Given the description of an element on the screen output the (x, y) to click on. 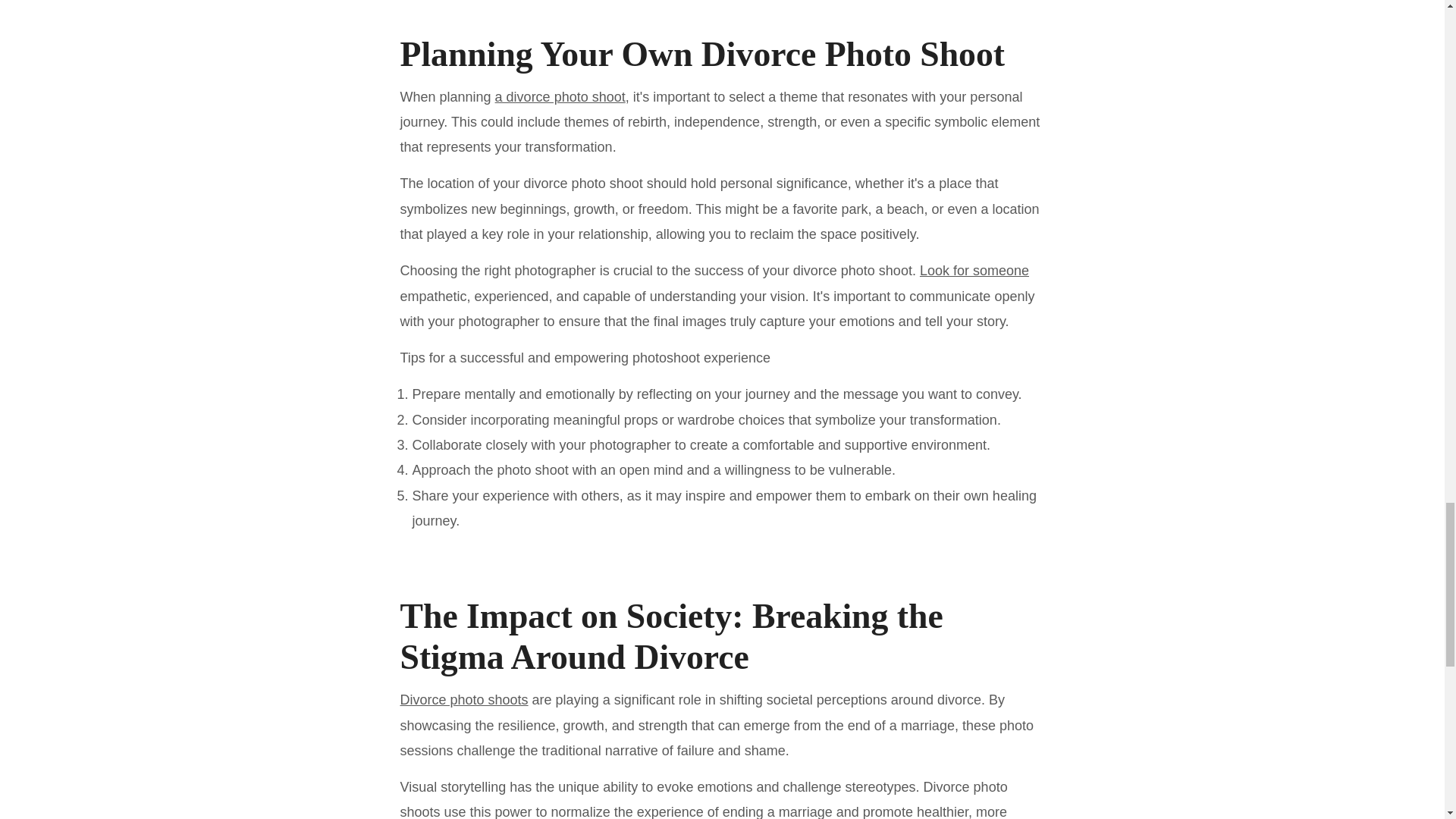
Look for someone (974, 270)
Divorce photo shoots (464, 699)
a divorce photo shoot (560, 96)
